Given the description of an element on the screen output the (x, y) to click on. 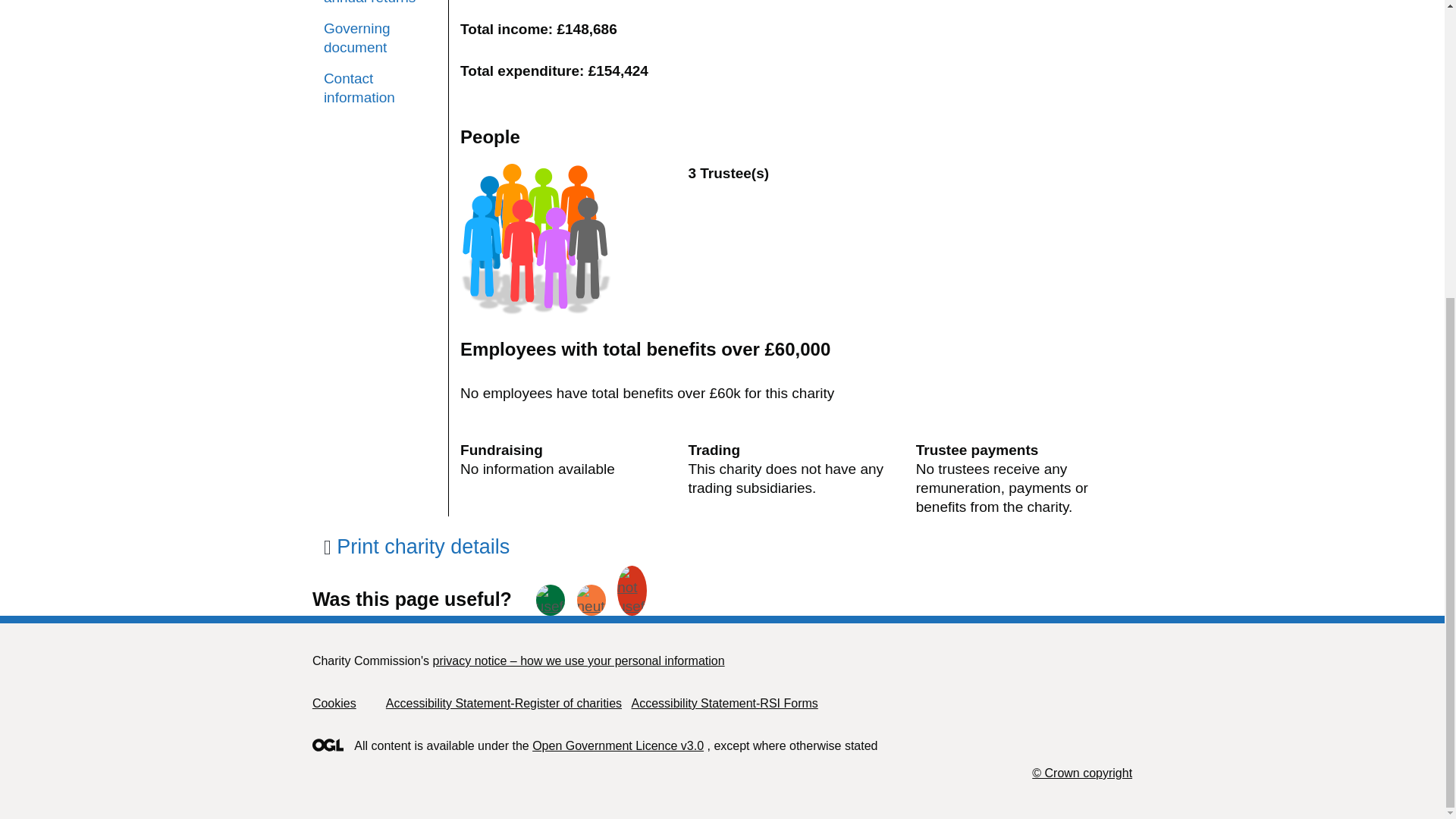
Accessibility Statement-RSI Forms (723, 703)
Governing document (379, 37)
Contact information (379, 87)
Accessibility Statement-Register of charities (503, 703)
Open Government Licence v3.0 (617, 745)
Accounts and annual returns (379, 3)
Cookies (334, 703)
Print charity details (416, 546)
